Given the description of an element on the screen output the (x, y) to click on. 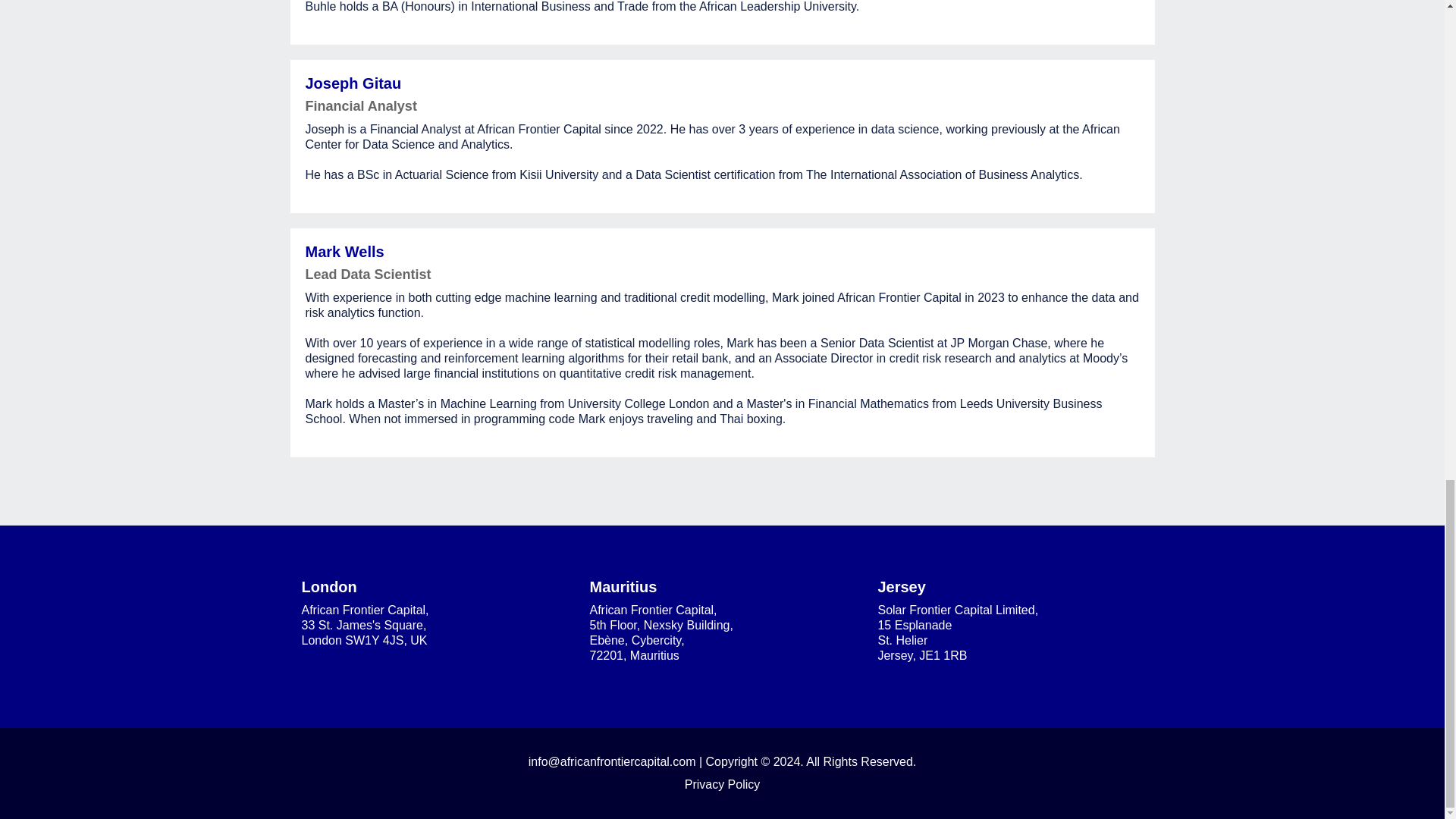
Privacy Policy (722, 784)
